Given the description of an element on the screen output the (x, y) to click on. 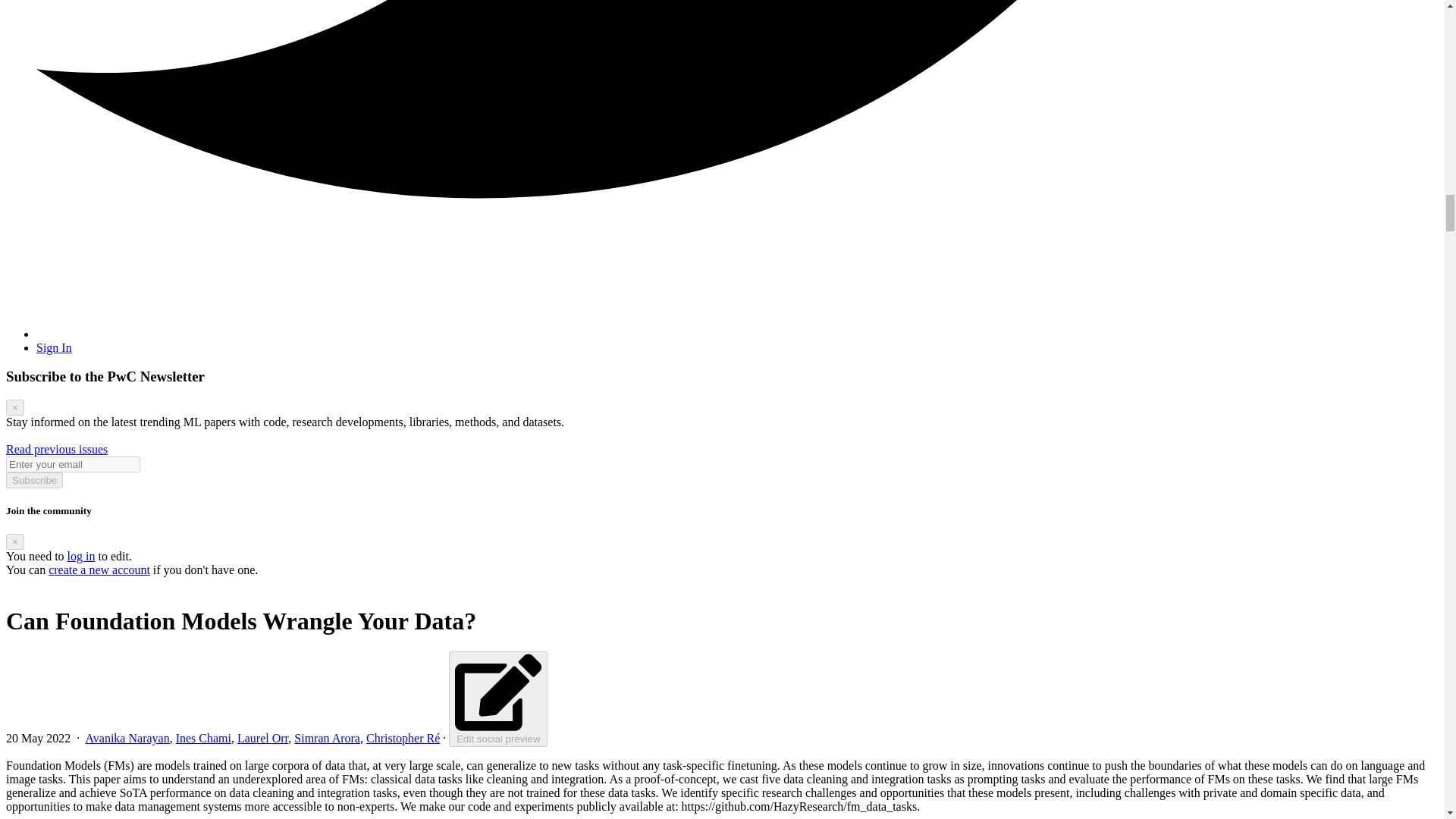
Sign In (53, 347)
log in (81, 555)
Laurel Orr (262, 738)
Subscribe (33, 480)
Avanika Narayan (126, 738)
Edit social preview (497, 698)
Simran Arora (326, 738)
Read previous issues (56, 449)
create a new account (98, 569)
Ines Chami (203, 738)
